Given the description of an element on the screen output the (x, y) to click on. 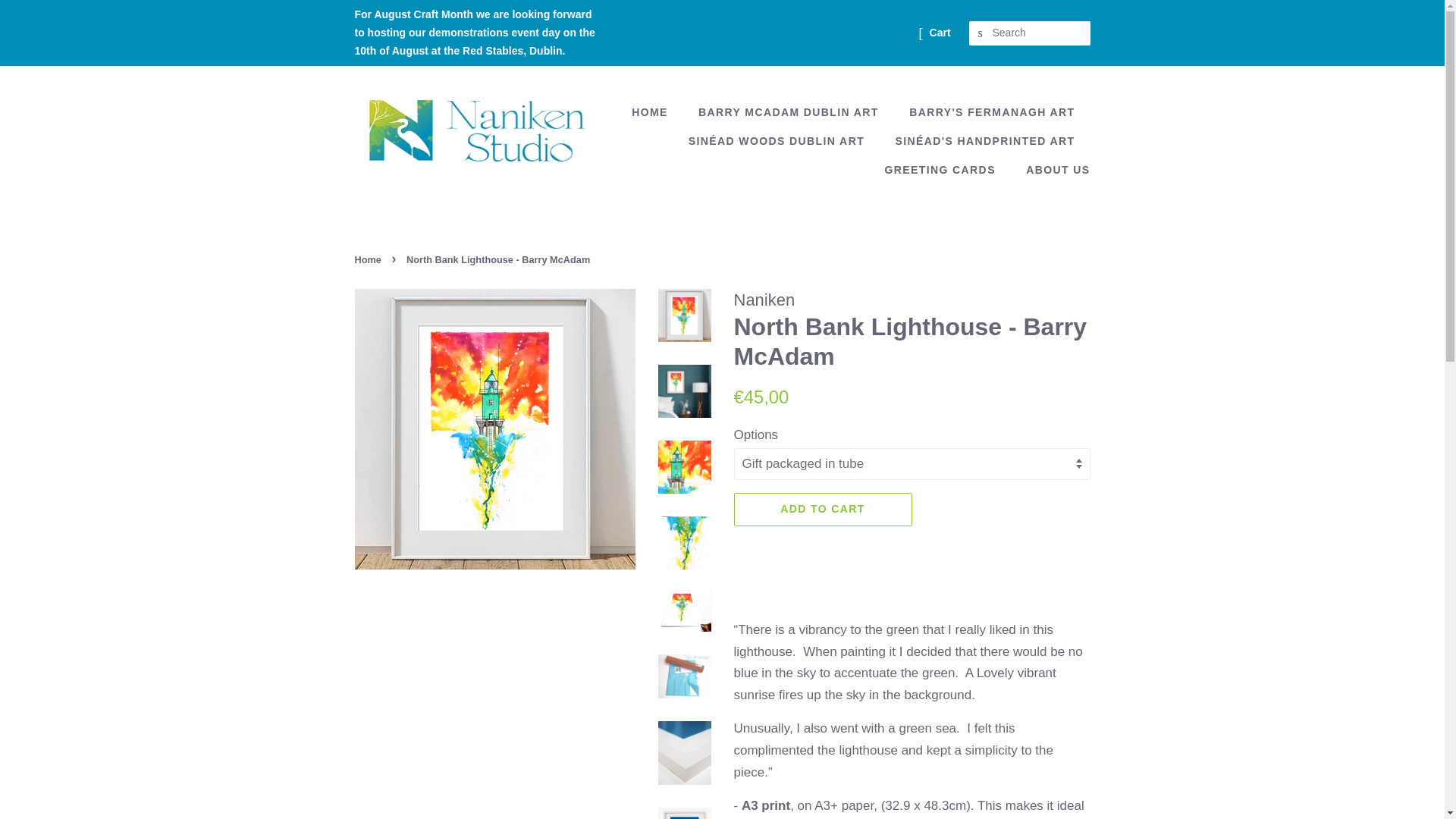
BARRY MCADAM DUBLIN ART (790, 112)
Cart (940, 33)
Home (370, 259)
GREETING CARDS (941, 170)
BARRY'S FERMANAGH ART (993, 112)
SEARCH (980, 33)
ADD TO CART (822, 540)
ABOUT US (1051, 170)
HOME (656, 112)
Back to the frontpage (370, 259)
